Given the description of an element on the screen output the (x, y) to click on. 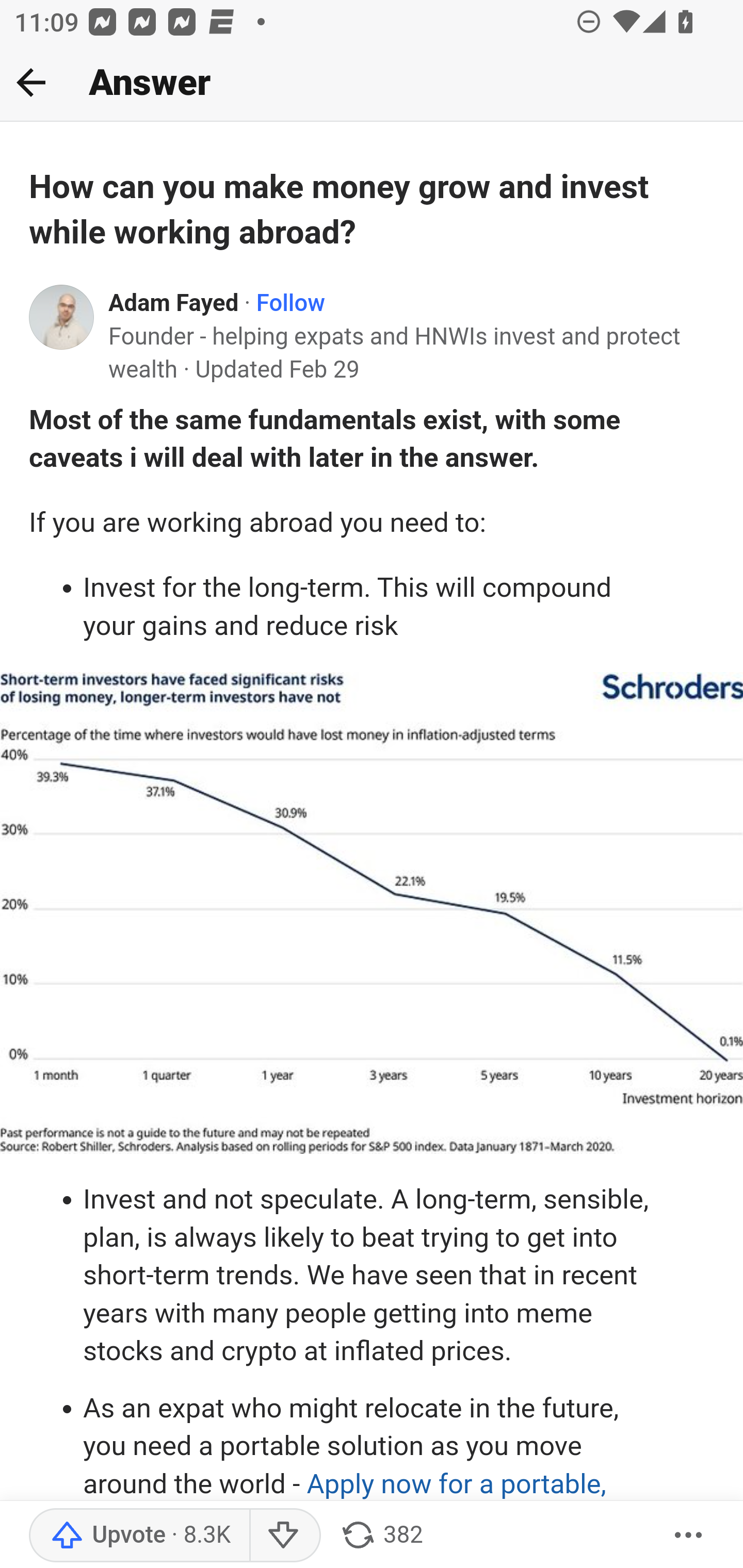
Back (30, 82)
Profile photo for Adam Fayed (61, 317)
Adam Fayed (173, 303)
Follow (290, 303)
main-qimg-f4f2abaf83ad35cc7004cd539396be25-lq (371, 912)
Upvote (138, 1535)
Downvote (283, 1535)
382 shares (380, 1535)
More (688, 1535)
